Given the description of an element on the screen output the (x, y) to click on. 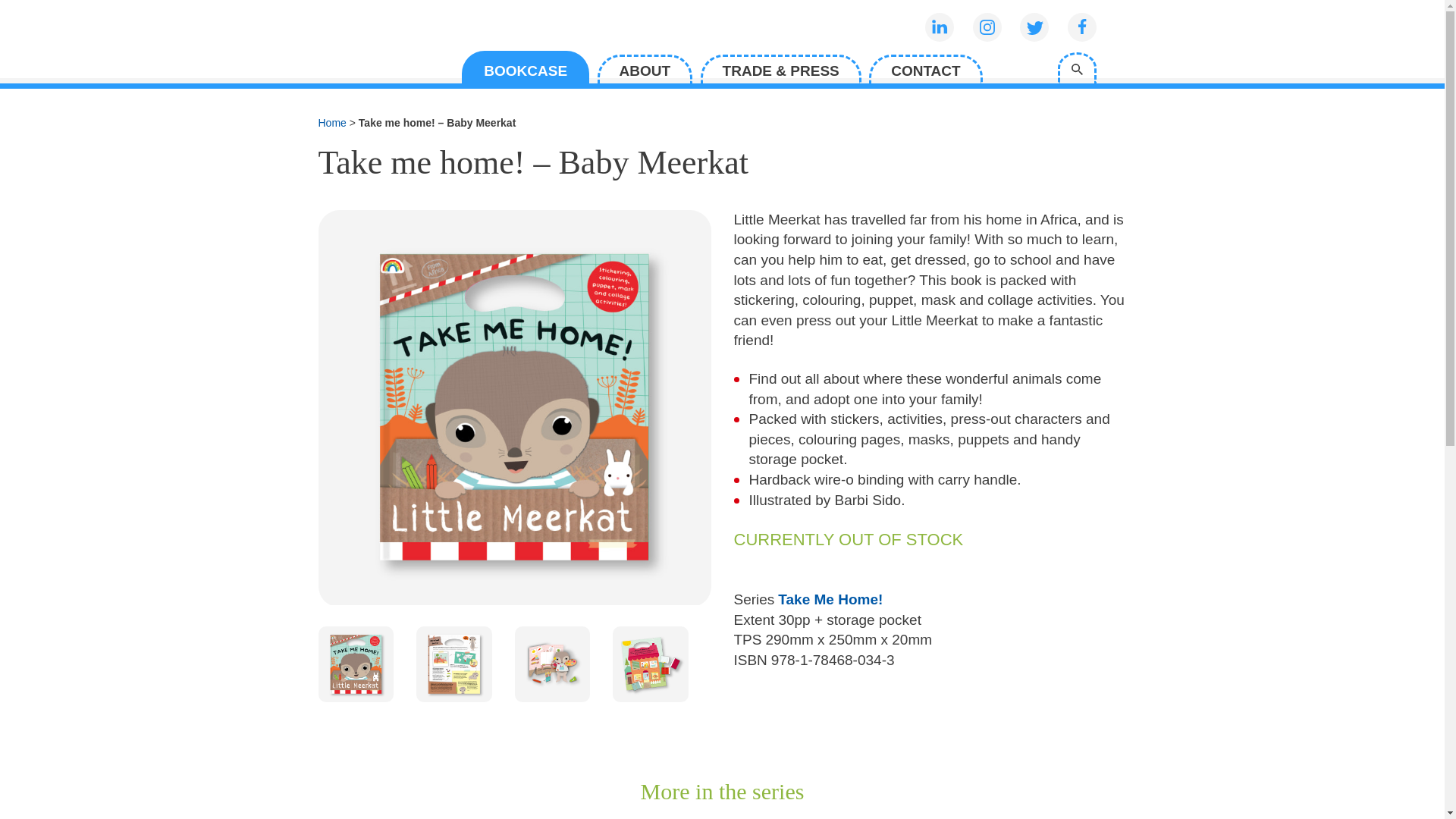
Take Me Home! (829, 599)
ABOUT (644, 68)
Search (1076, 67)
Home (332, 122)
BOOKCASE (525, 66)
CONTACT (925, 68)
